Given the description of an element on the screen output the (x, y) to click on. 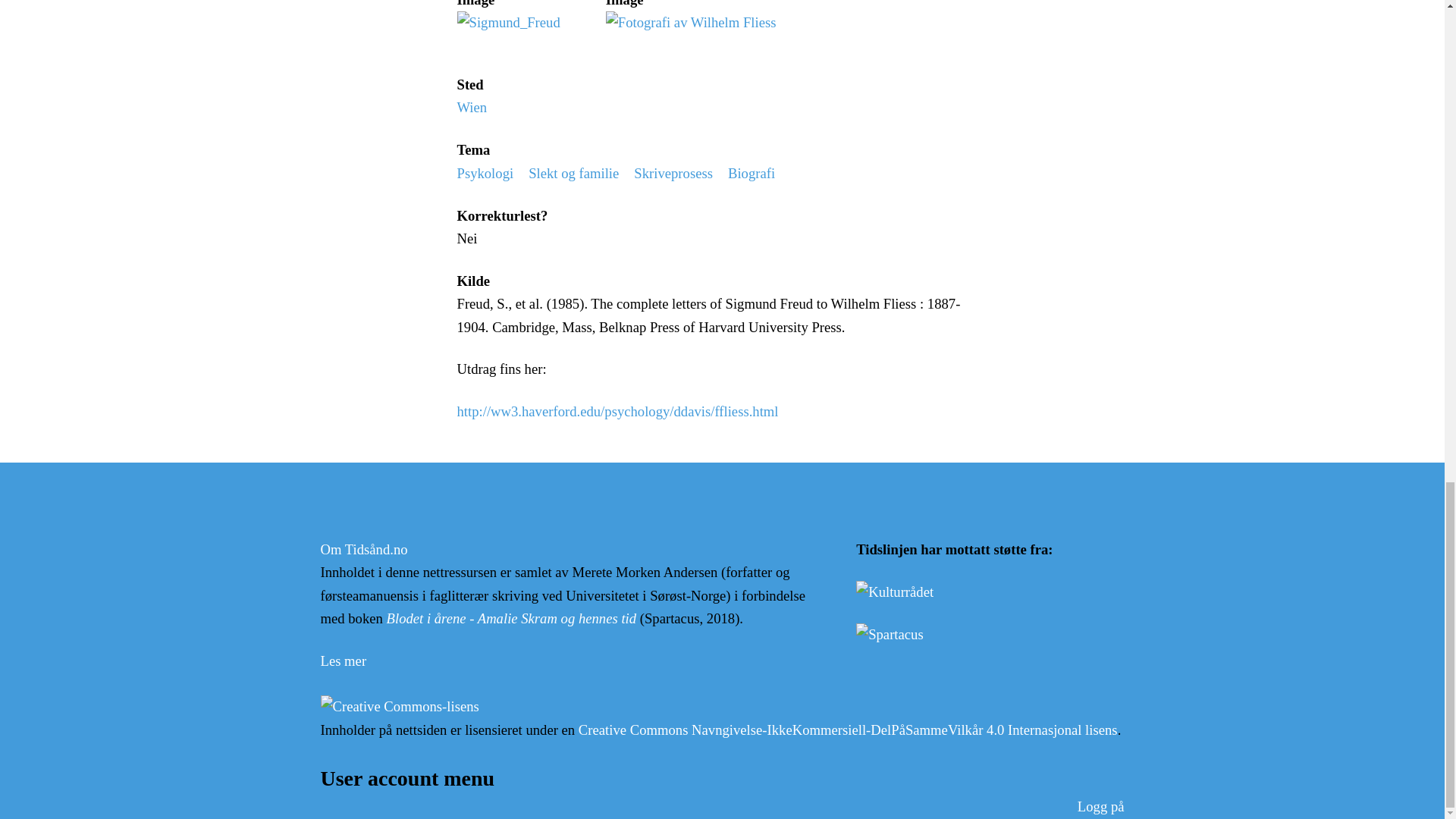
Biografi (751, 172)
Les mer (343, 660)
Slekt og familie (573, 172)
Psykologi (485, 172)
Skriveprosess (673, 172)
